Given the description of an element on the screen output the (x, y) to click on. 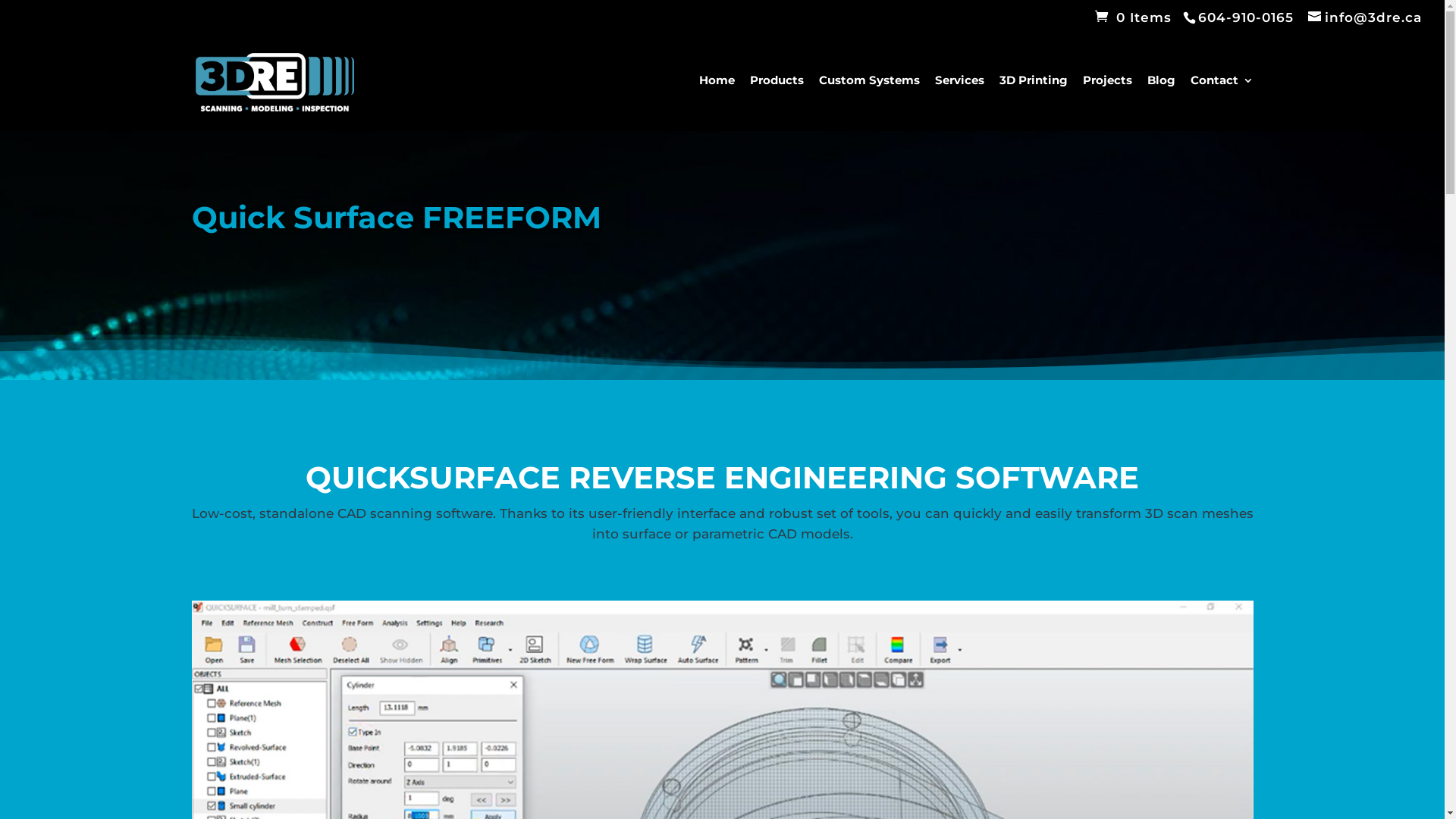
Contact Element type: text (1221, 99)
Products Element type: text (776, 99)
Blog Element type: text (1160, 99)
Custom Systems Element type: text (869, 99)
3D Printing Element type: text (1033, 99)
info@3dre.ca Element type: text (1364, 17)
Home Element type: text (716, 99)
0 Items Element type: text (1133, 17)
Services Element type: text (958, 99)
Projects Element type: text (1107, 99)
